Given the description of an element on the screen output the (x, y) to click on. 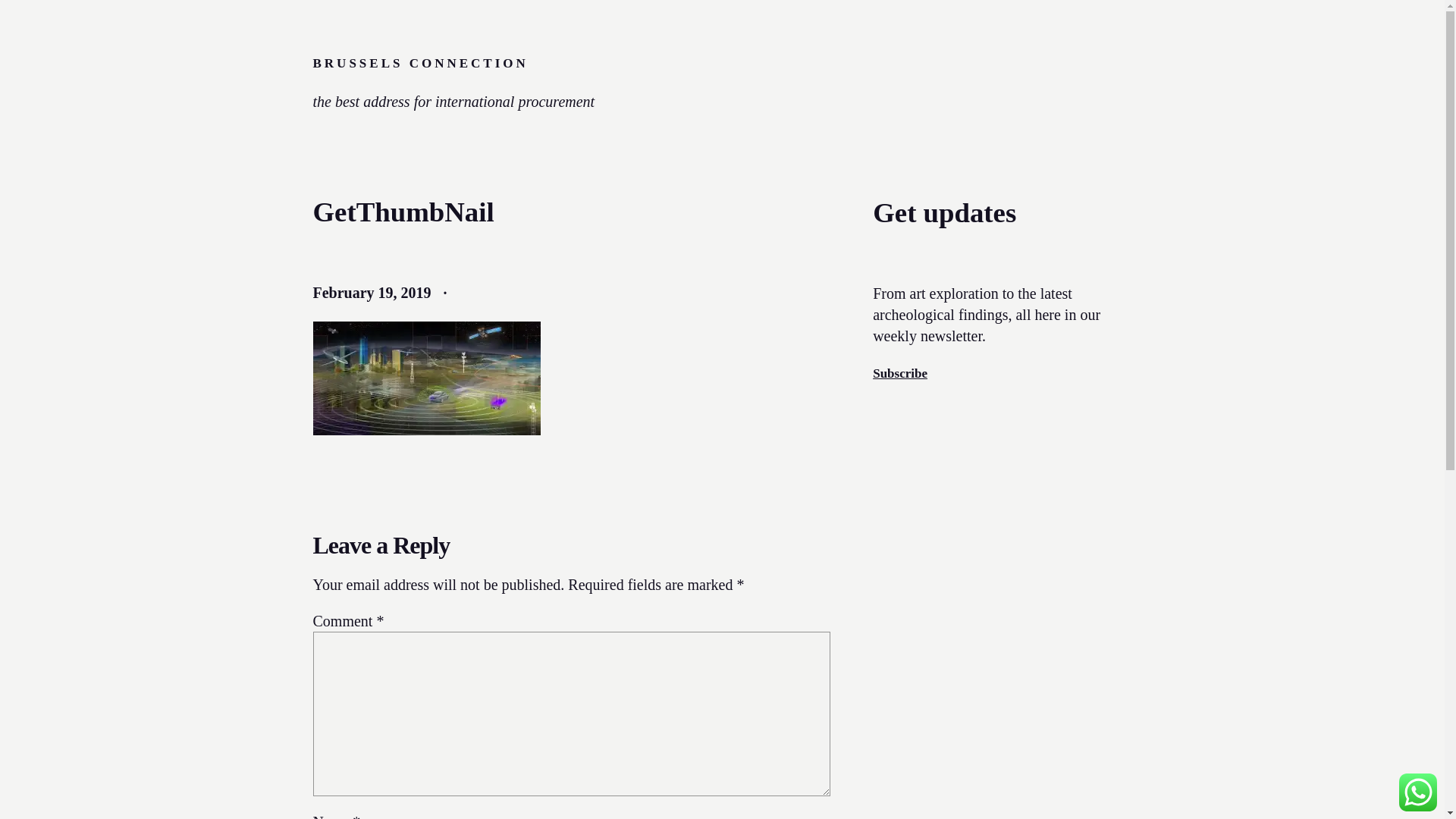
BRUSSELS CONNECTION (420, 63)
